Given the description of an element on the screen output the (x, y) to click on. 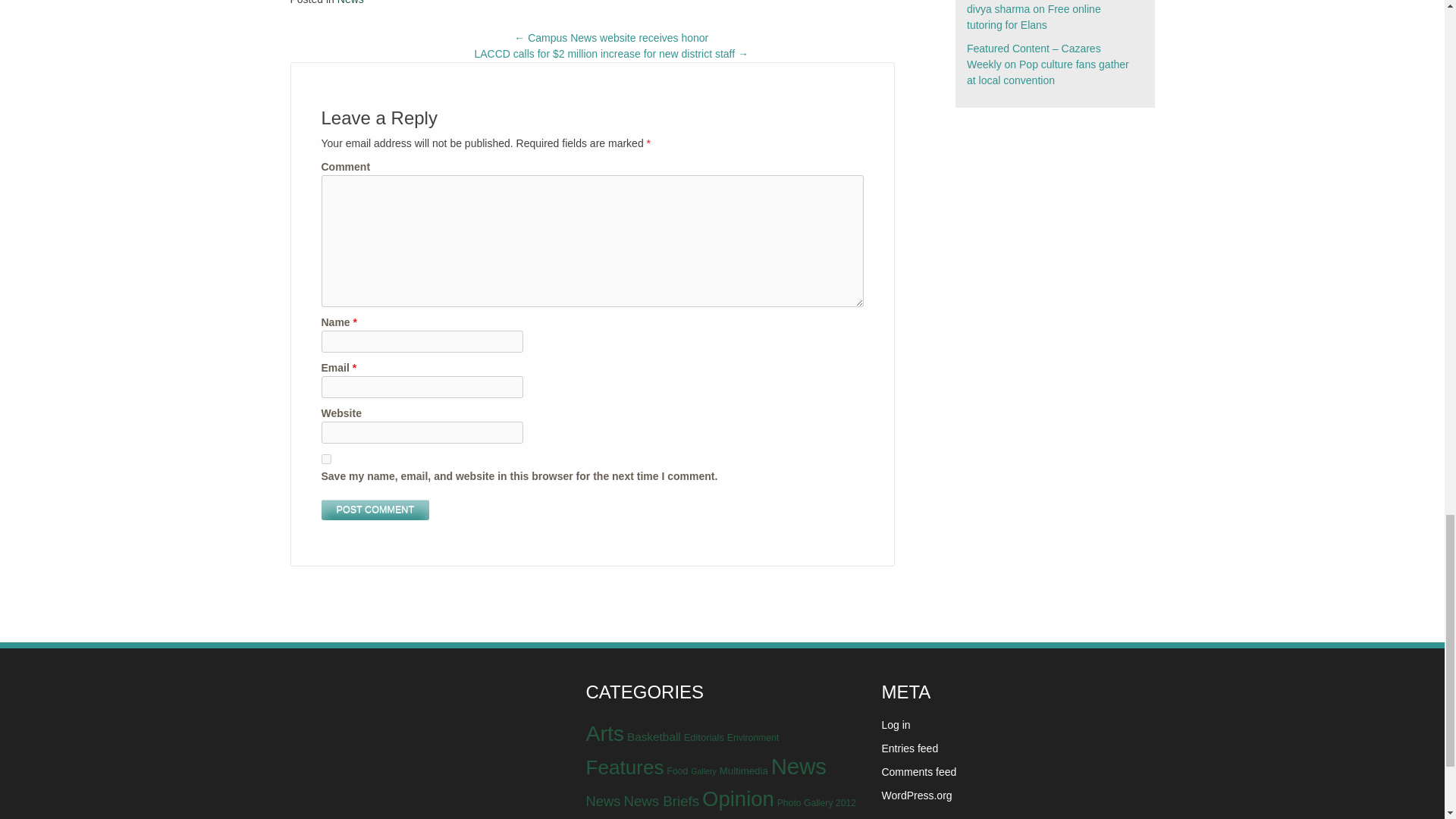
yes (326, 459)
News (350, 2)
Post Comment (375, 509)
Post Comment (375, 509)
